Given the description of an element on the screen output the (x, y) to click on. 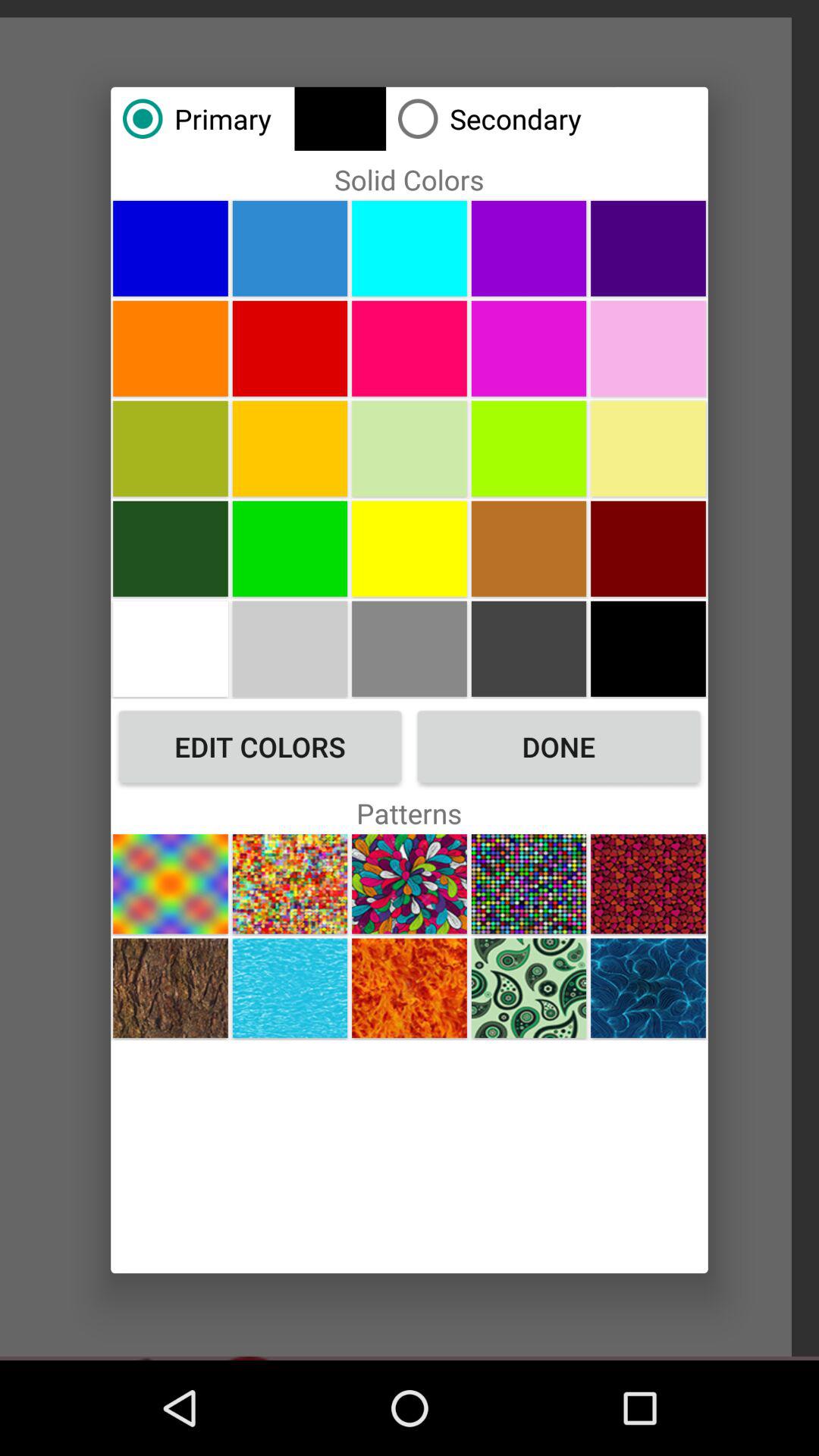
color choice (170, 248)
